Given the description of an element on the screen output the (x, y) to click on. 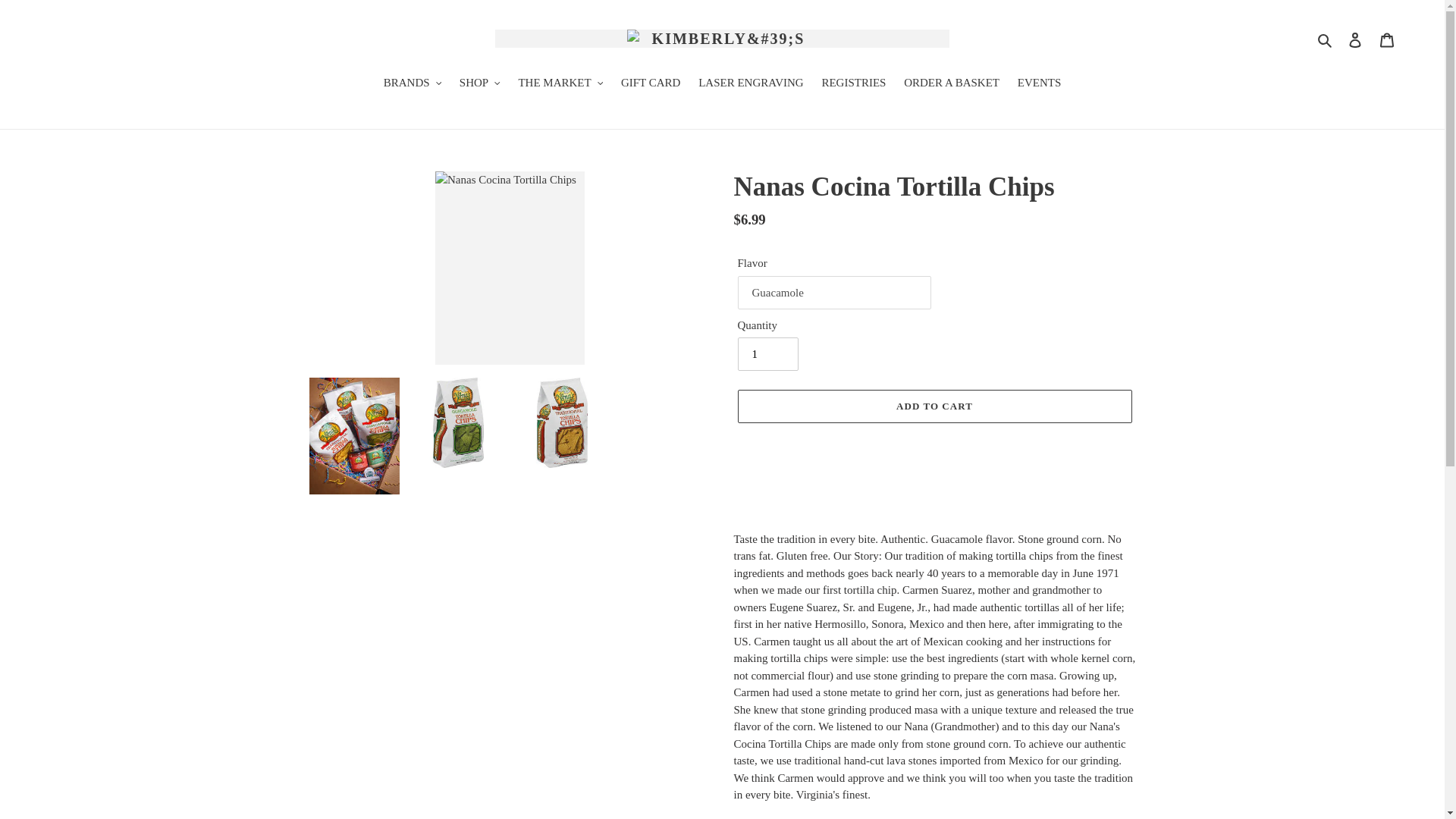
Search (1326, 38)
Log in (1355, 38)
1 (766, 354)
Cart (1387, 38)
